Given the description of an element on the screen output the (x, y) to click on. 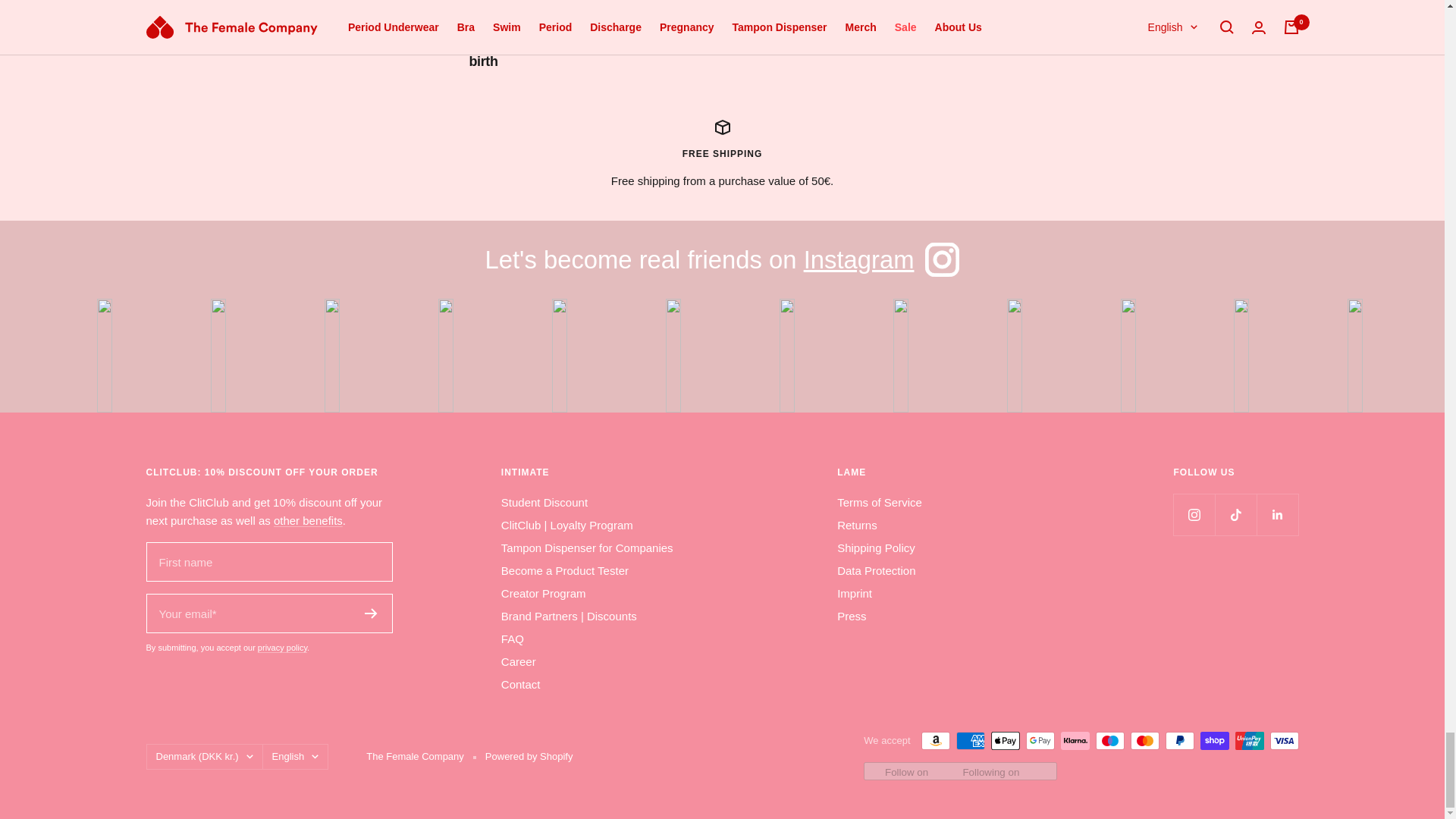
Join the ClitClub (307, 520)
Register (370, 613)
